Given the description of an element on the screen output the (x, y) to click on. 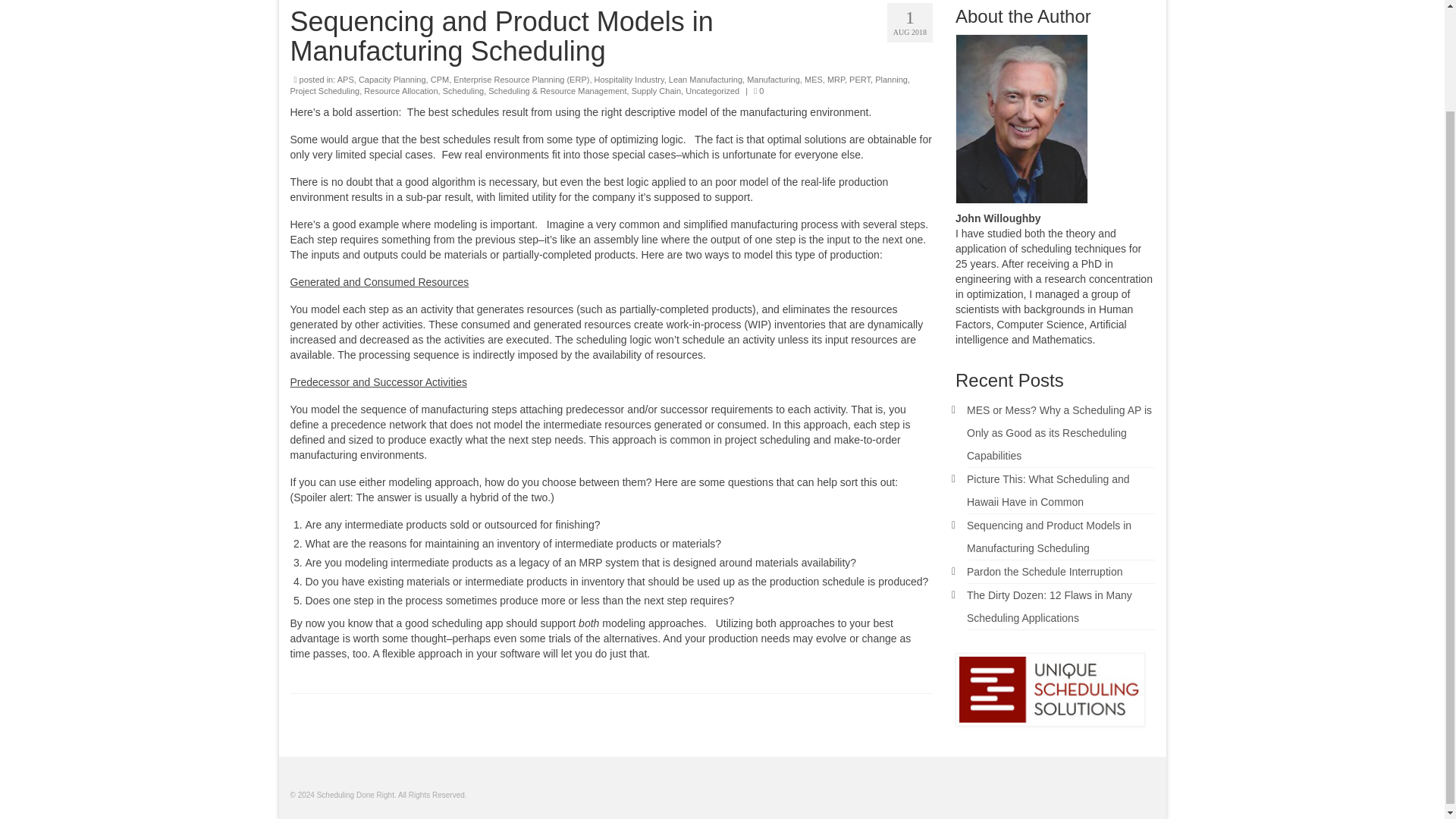
MRP (835, 79)
Sequencing and Product Models in Manufacturing Scheduling (1048, 536)
Scheduling (462, 90)
Pardon the Schedule Interruption (1044, 571)
PERT (859, 79)
Capacity Planning (392, 79)
Supply Chain (656, 90)
Lean Manufacturing (705, 79)
The Dirty Dozen: 12 Flaws in Many Scheduling Applications (1049, 606)
Manufacturing (772, 79)
Uncategorized (712, 90)
Planning (891, 79)
MES (813, 79)
Hospitality Industry (628, 79)
Project Scheduling (324, 90)
